Given the description of an element on the screen output the (x, y) to click on. 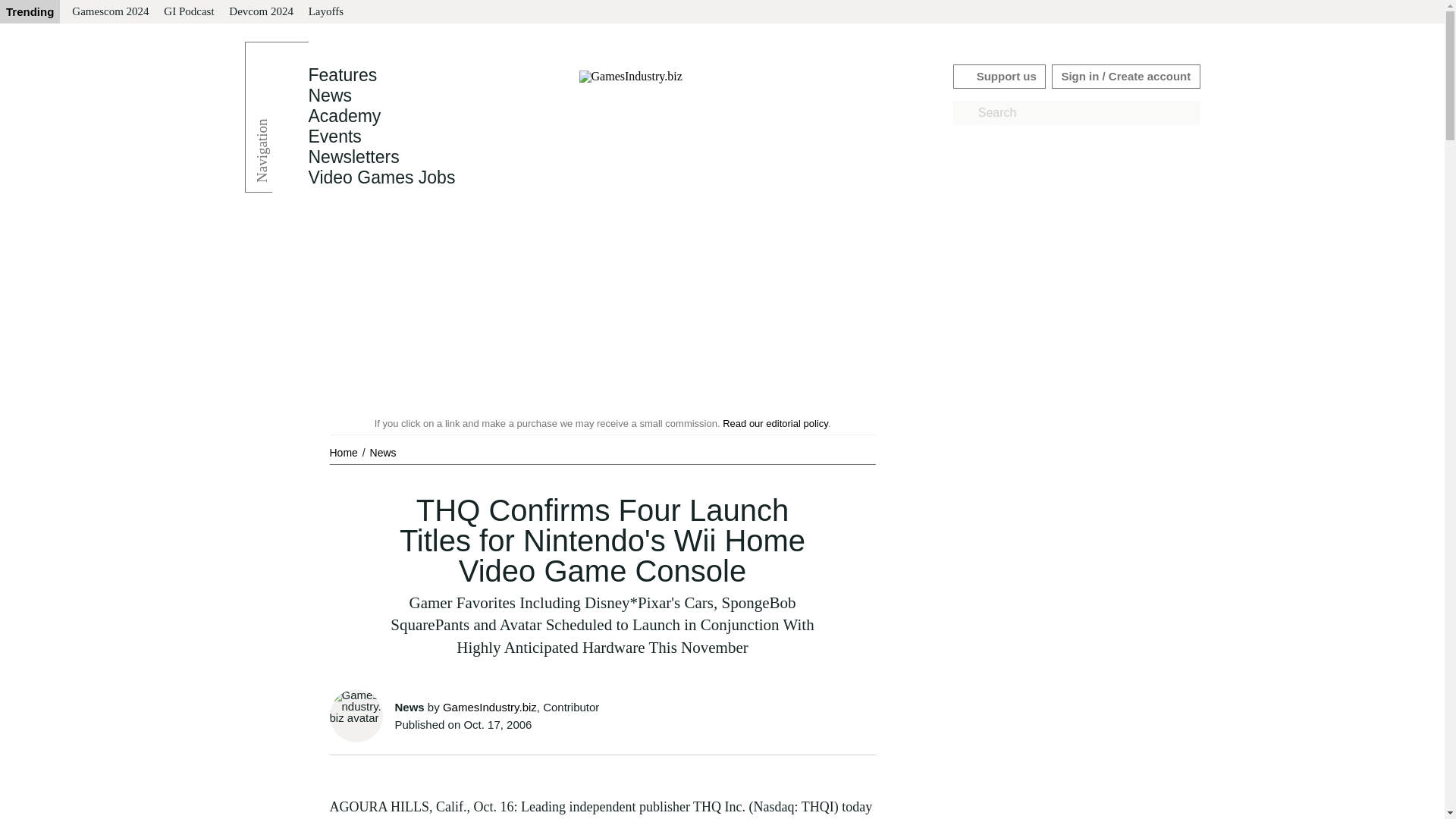
Academy (343, 116)
Devcom 2024 (260, 11)
Video Games Jobs (380, 177)
News (382, 452)
Academy (343, 116)
Gamescom 2024 (109, 11)
Read our editorial policy (775, 423)
News (329, 95)
Events (334, 136)
Features (342, 75)
